Given the description of an element on the screen output the (x, y) to click on. 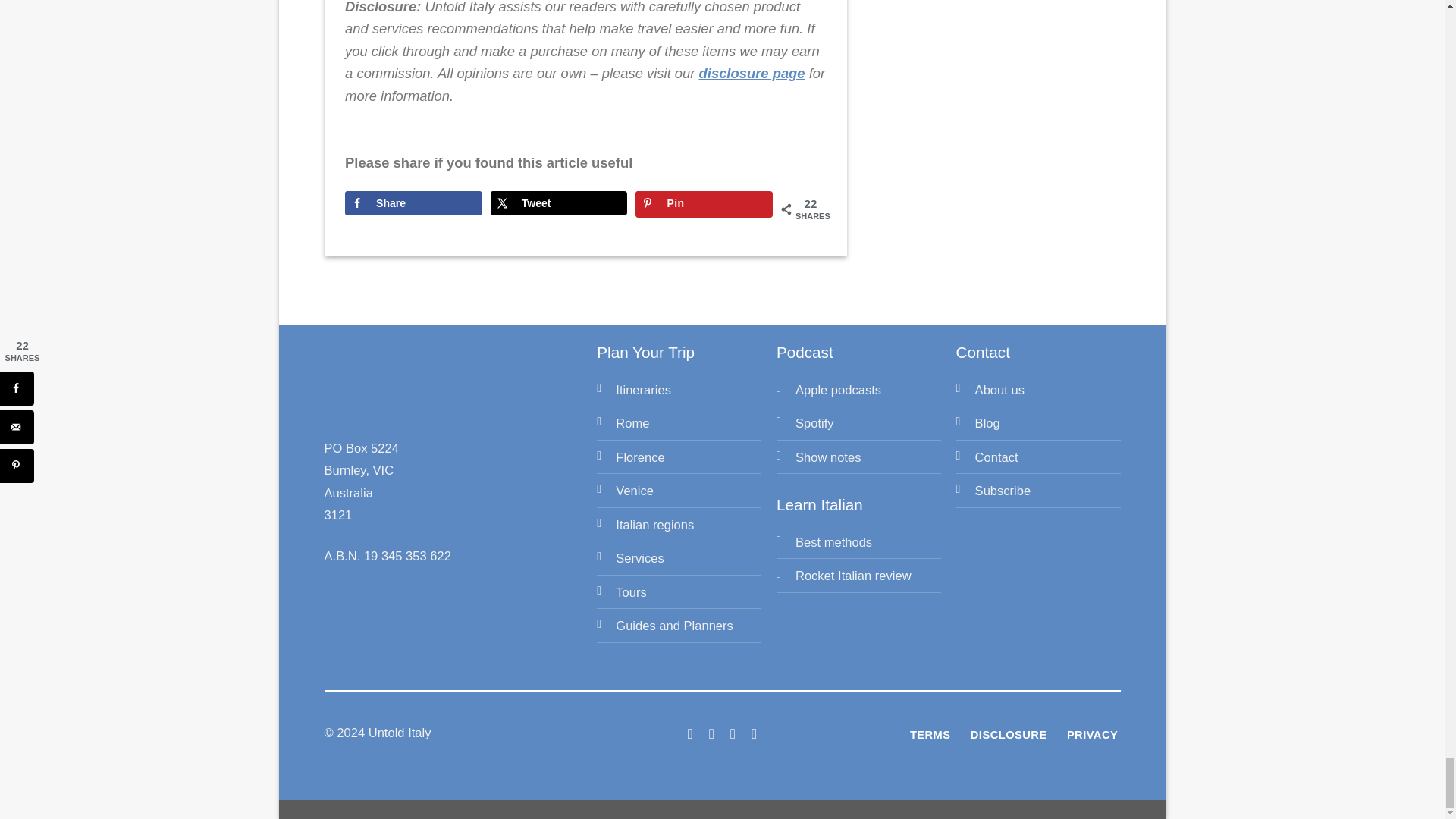
Follow on Instagram (711, 733)
Follow on LinkedIn (732, 733)
Share on Facebook (413, 202)
Follow on YouTube (753, 733)
Share on X (558, 202)
Follow on Facebook (689, 733)
Save to Pinterest (702, 203)
